Given the description of an element on the screen output the (x, y) to click on. 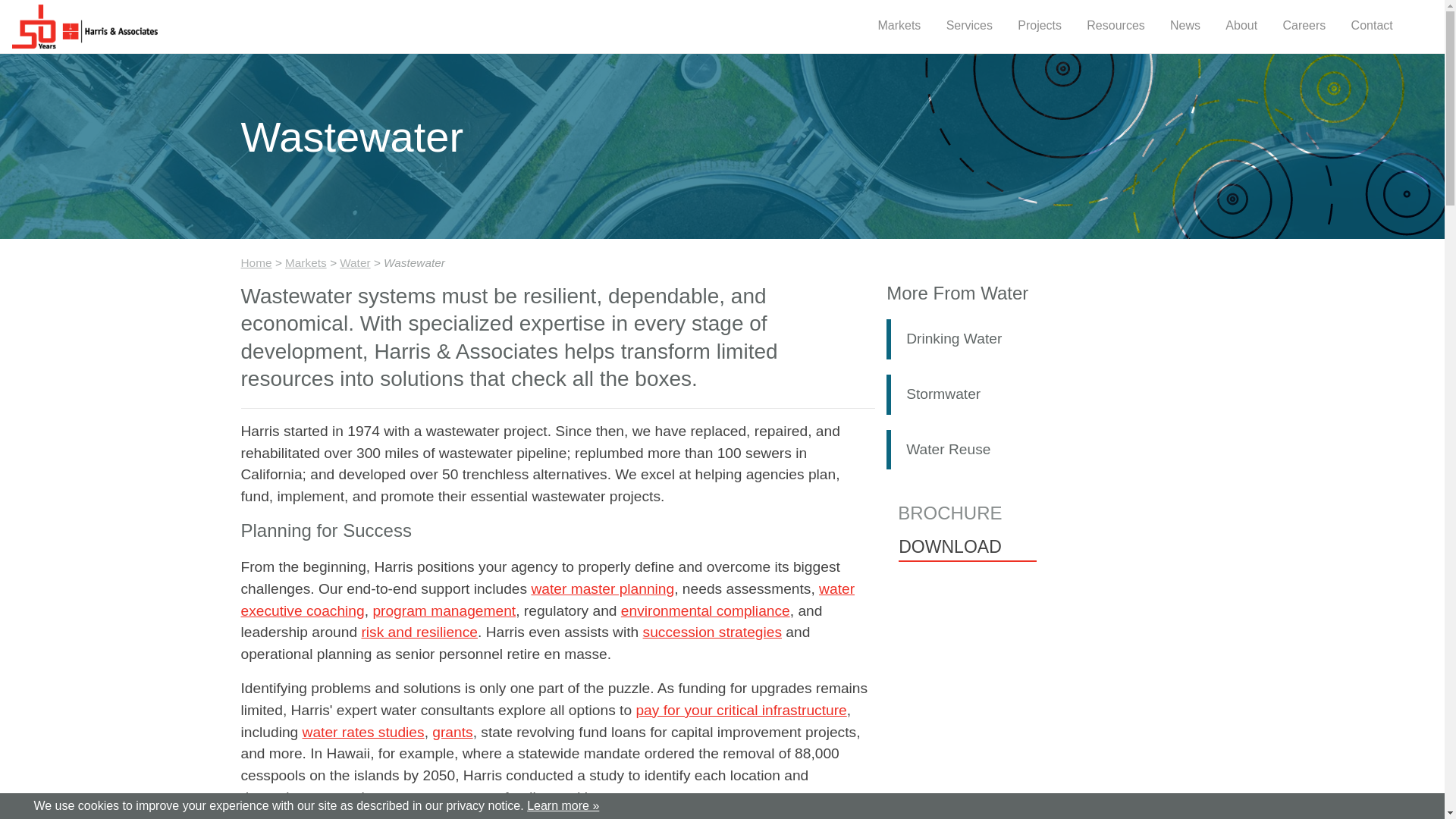
Services (969, 26)
Resources (1115, 26)
Water Rates 101 for Water Utilities (363, 731)
Grant Funding Opportunities (451, 731)
Water Consulting (548, 599)
Municipal Finance (739, 709)
Projects (1039, 26)
Risk and Resilience (419, 631)
Environmental Planning and Compliance (705, 610)
Water Consulting (602, 588)
Advisory Services (712, 631)
Markets (898, 26)
Program Management (443, 610)
